Given the description of an element on the screen output the (x, y) to click on. 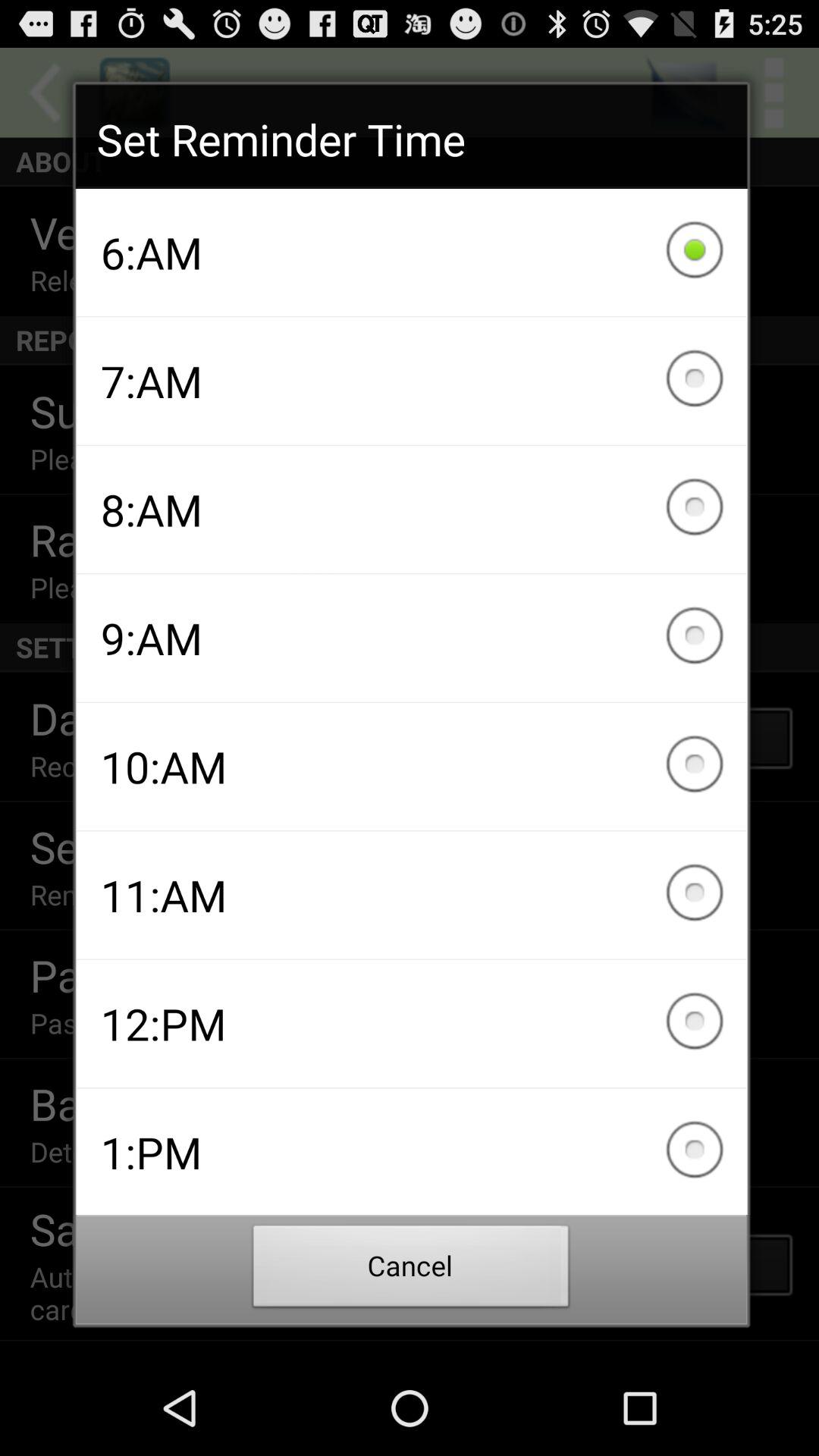
press checkbox below the 1:pm icon (410, 1270)
